Given the description of an element on the screen output the (x, y) to click on. 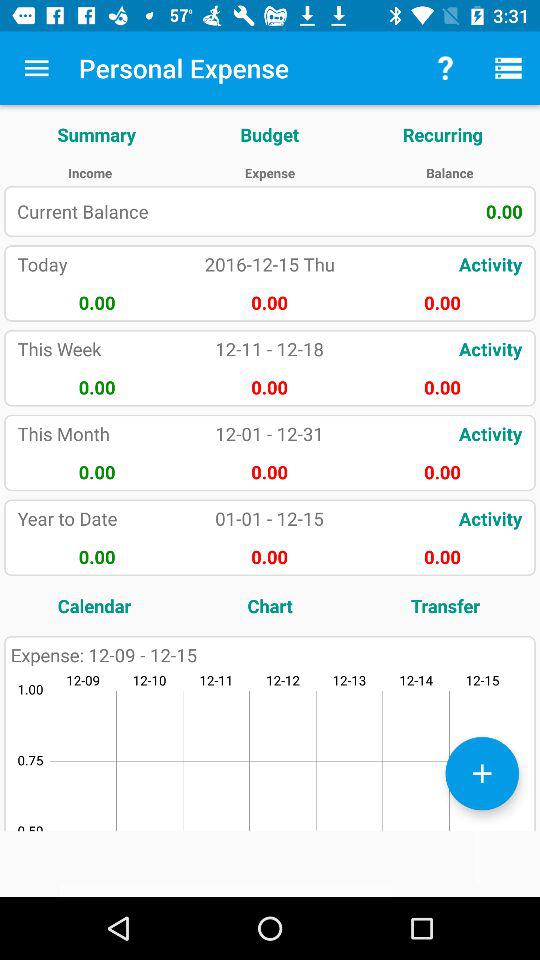
select the app to the right of personal expense item (444, 67)
